Given the description of an element on the screen output the (x, y) to click on. 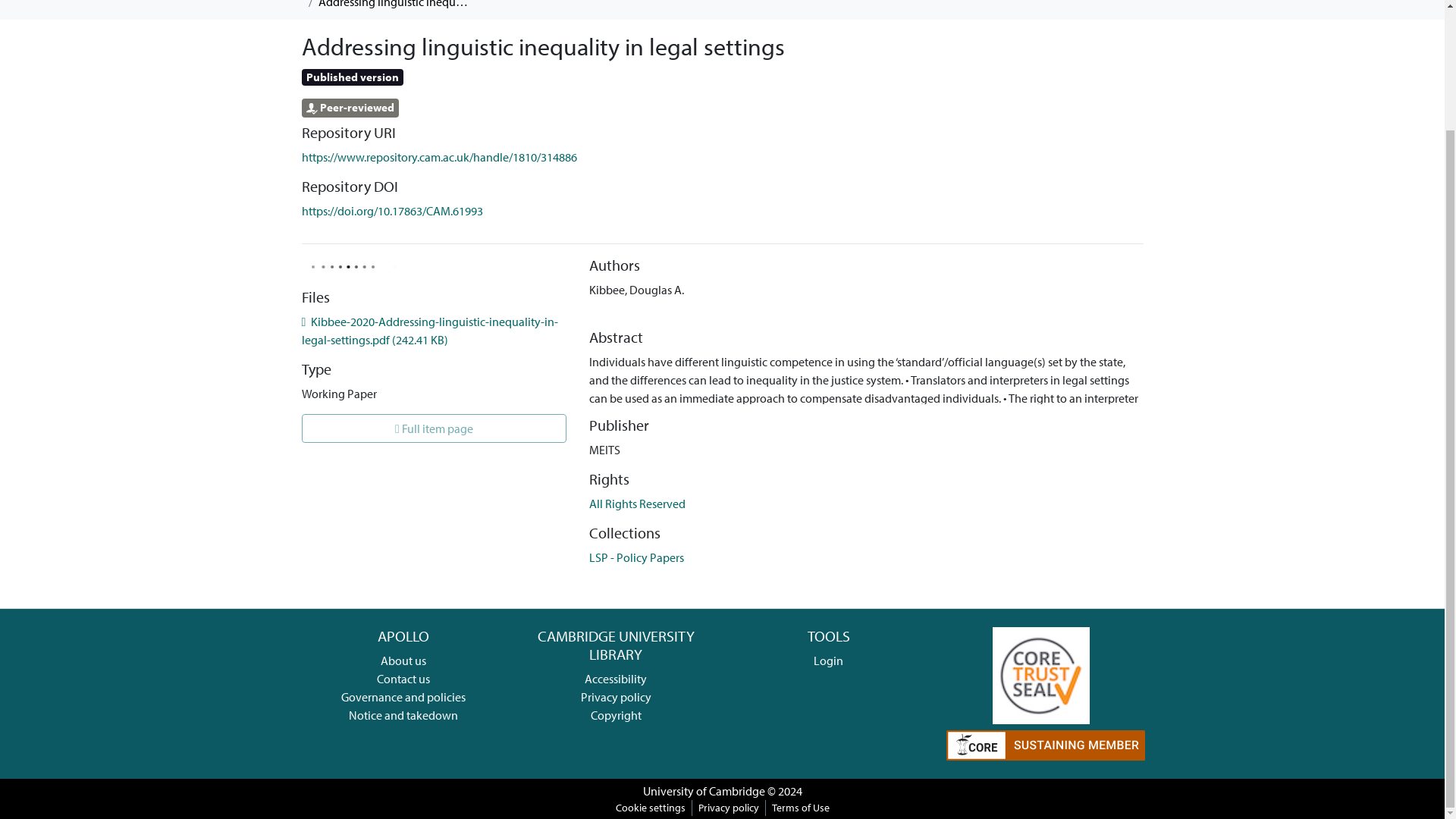
Notice and takedown (403, 714)
Privacy policy (615, 696)
All Rights Reserved (637, 503)
Governance and policies (402, 696)
LSP - Policy Papers (636, 557)
Copyright (616, 714)
Full item page (434, 428)
Contact us (403, 678)
Apollo CTS full application (1040, 673)
Accessibility (615, 678)
About us (403, 660)
